Given the description of an element on the screen output the (x, y) to click on. 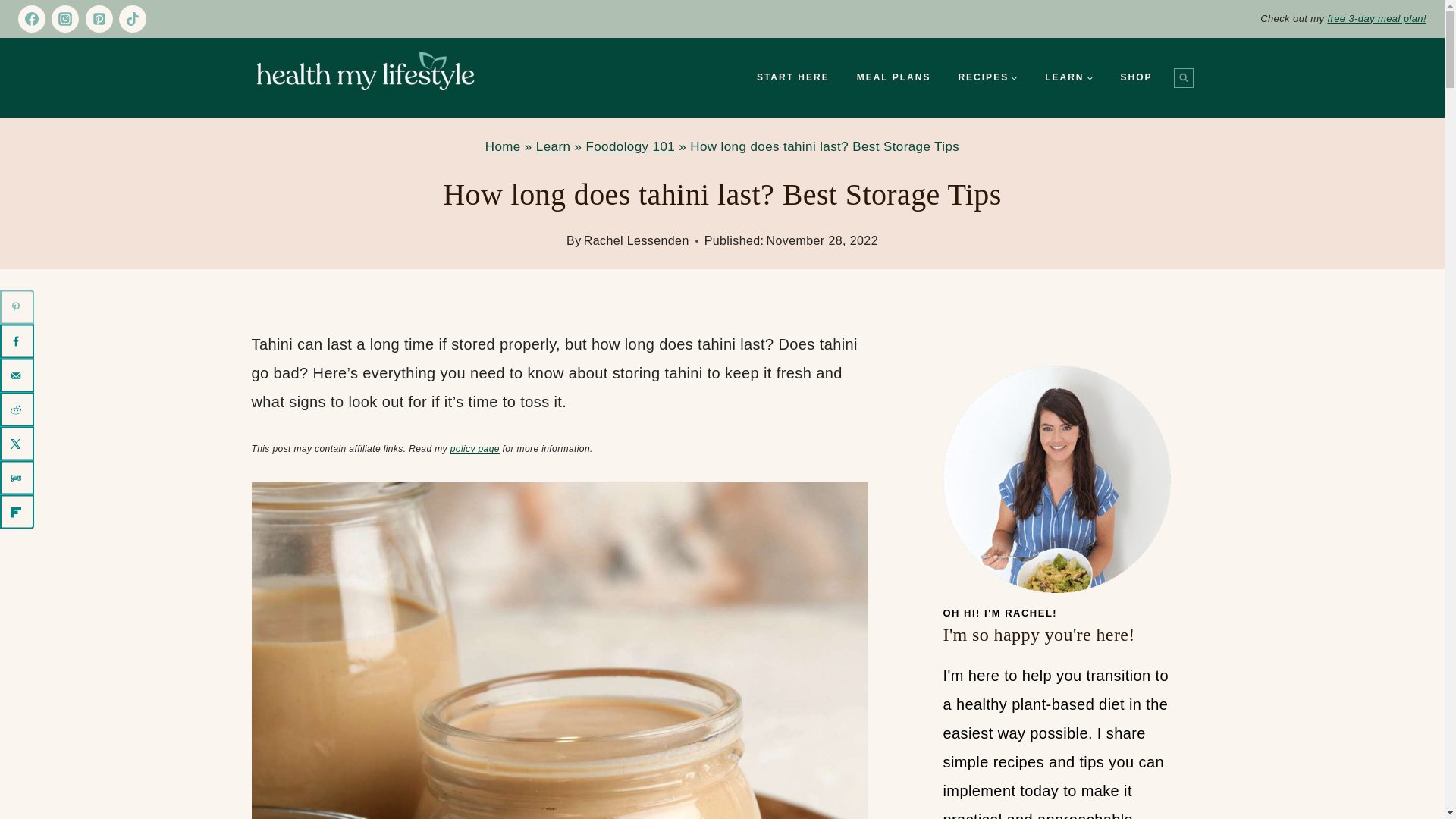
LEARN (1068, 77)
START HERE (792, 77)
MEAL PLANS (893, 77)
SHOP (1136, 77)
Rachel Lessenden (635, 240)
Foodology 101 (630, 146)
free 3-day meal plan! (1376, 18)
RECIPES (986, 77)
Learn (552, 146)
policy page (474, 448)
